Given the description of an element on the screen output the (x, y) to click on. 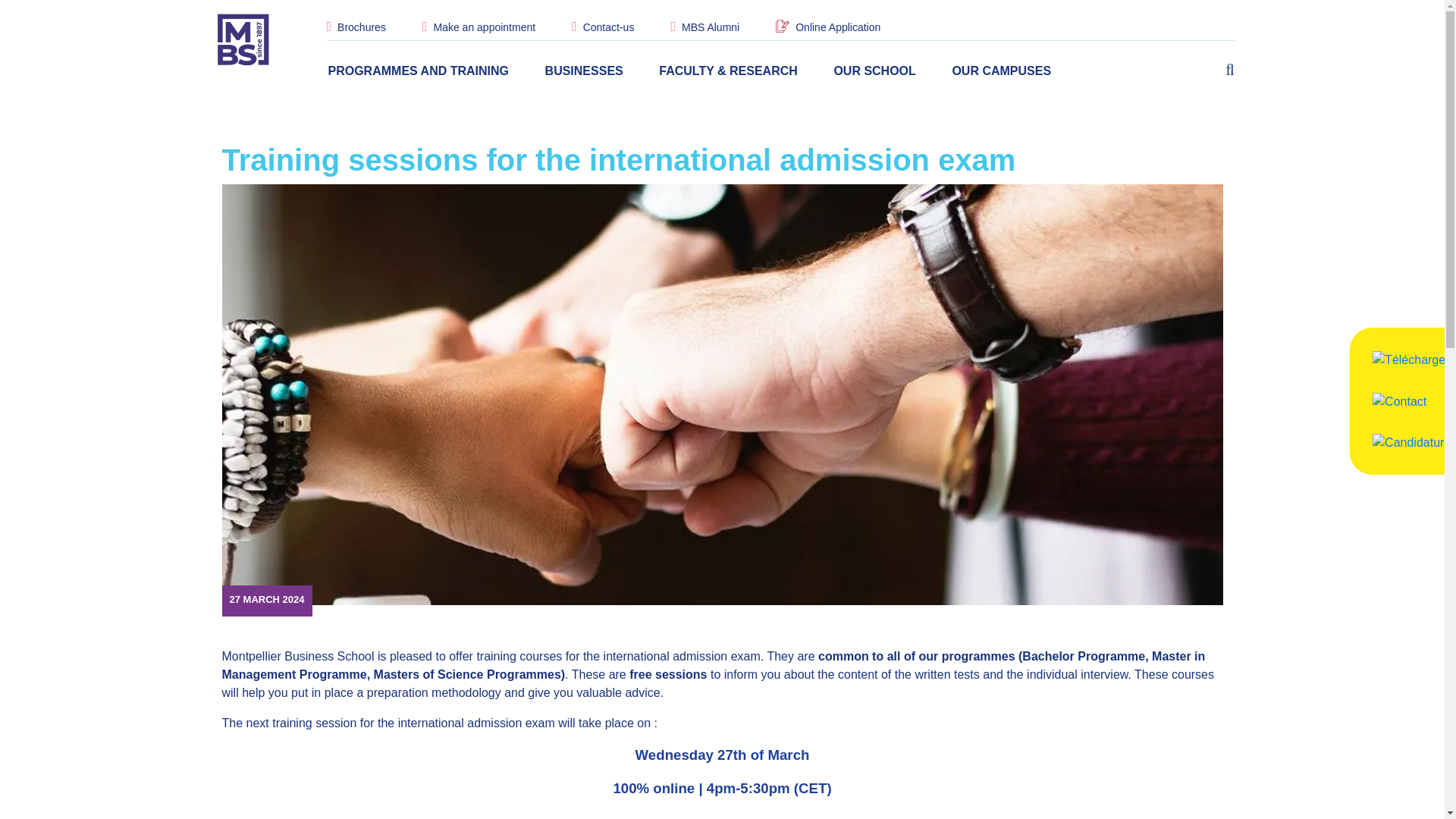
Go to the rendez-vous form (483, 27)
MBS Alumni (710, 27)
Online Application (837, 27)
BUSINESSES (583, 70)
PROGRAMMES AND TRAINING (417, 70)
Contact-us (608, 27)
Go to the contact form (608, 27)
Make an appointment (483, 27)
Brochures (361, 27)
Go to the brochures (361, 27)
Go to MBS Alumni (710, 27)
